Given the description of an element on the screen output the (x, y) to click on. 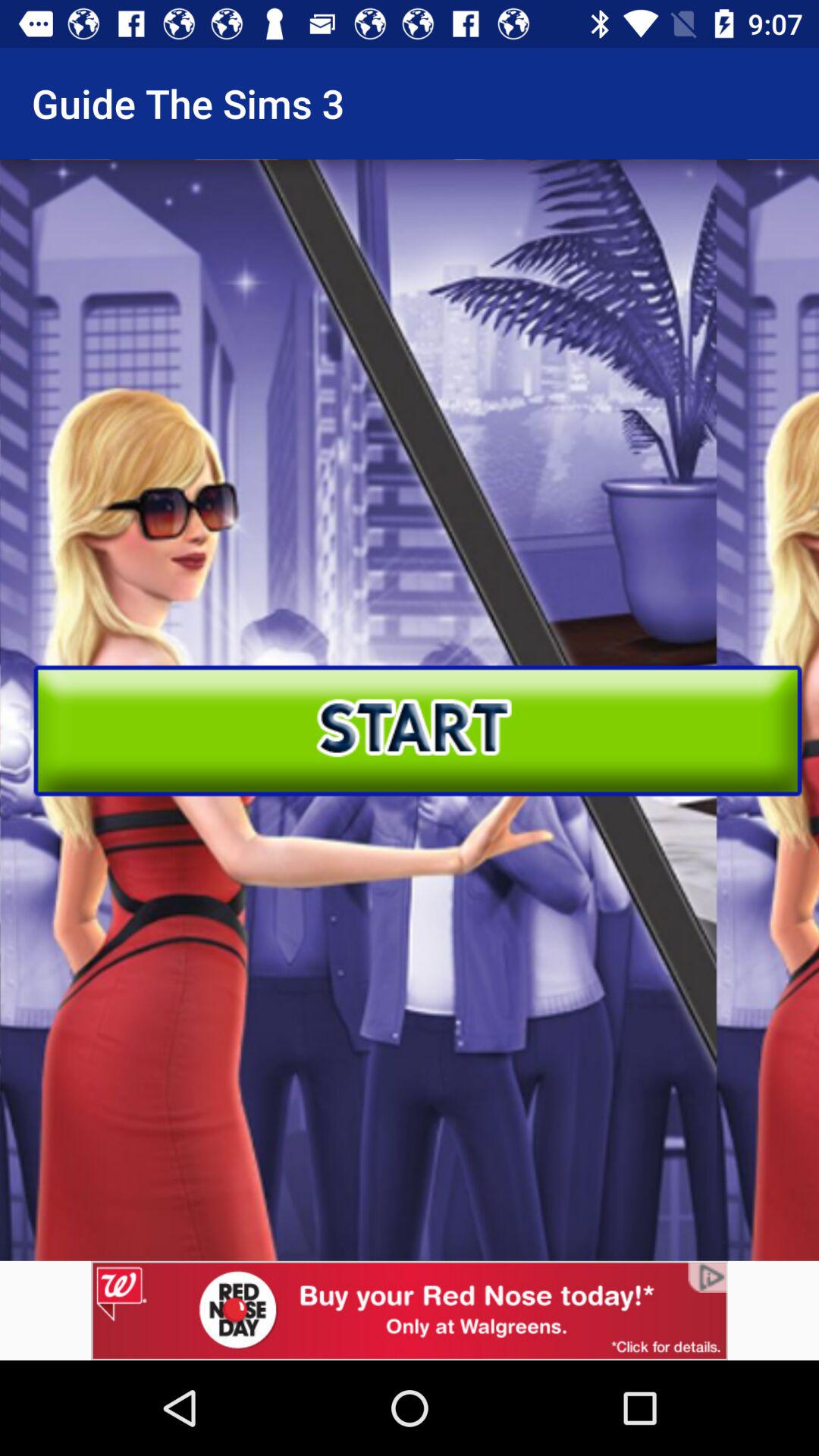
open the advertisements (409, 1310)
